Given the description of an element on the screen output the (x, y) to click on. 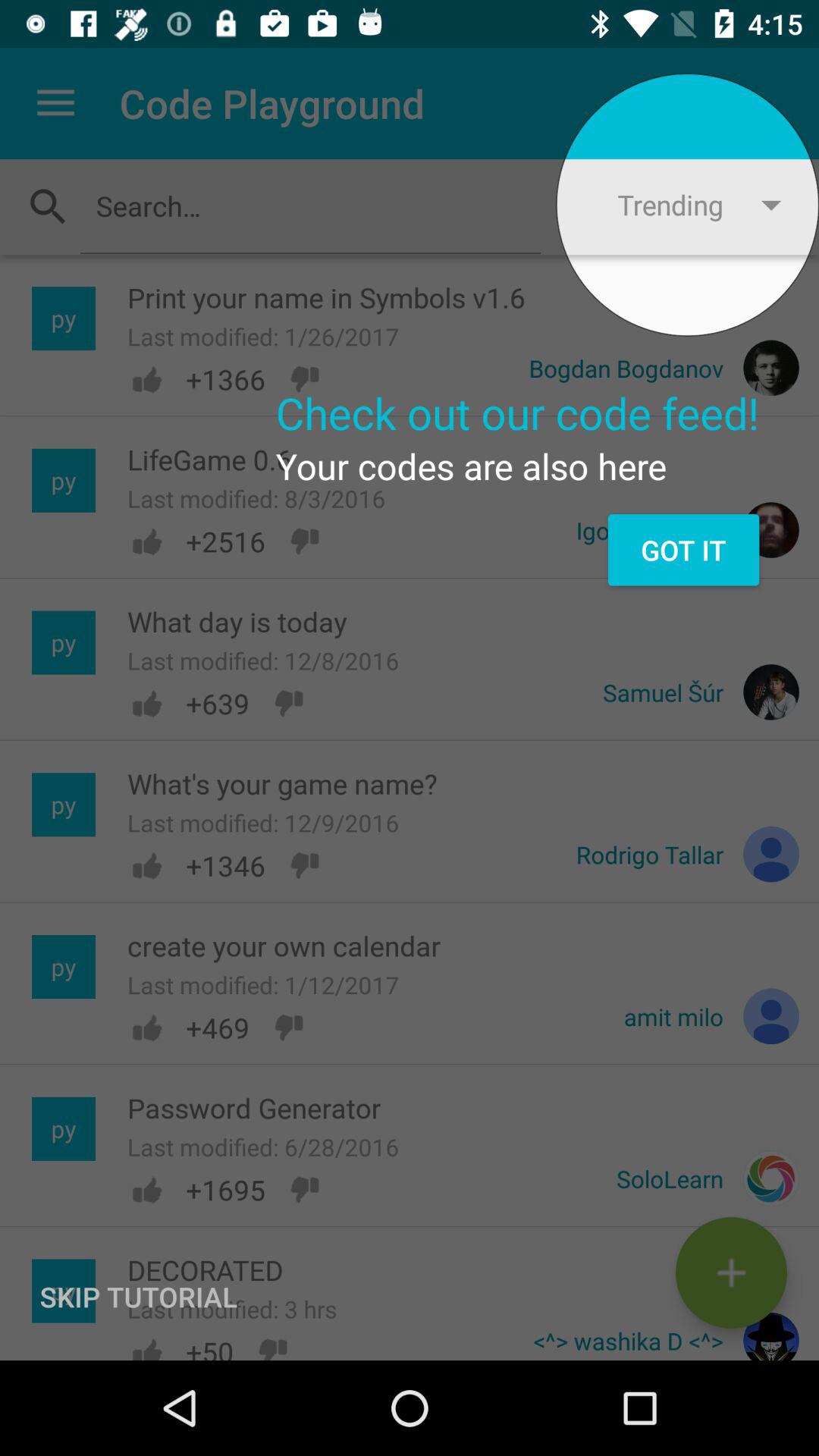
click search box (310, 205)
